Given the description of an element on the screen output the (x, y) to click on. 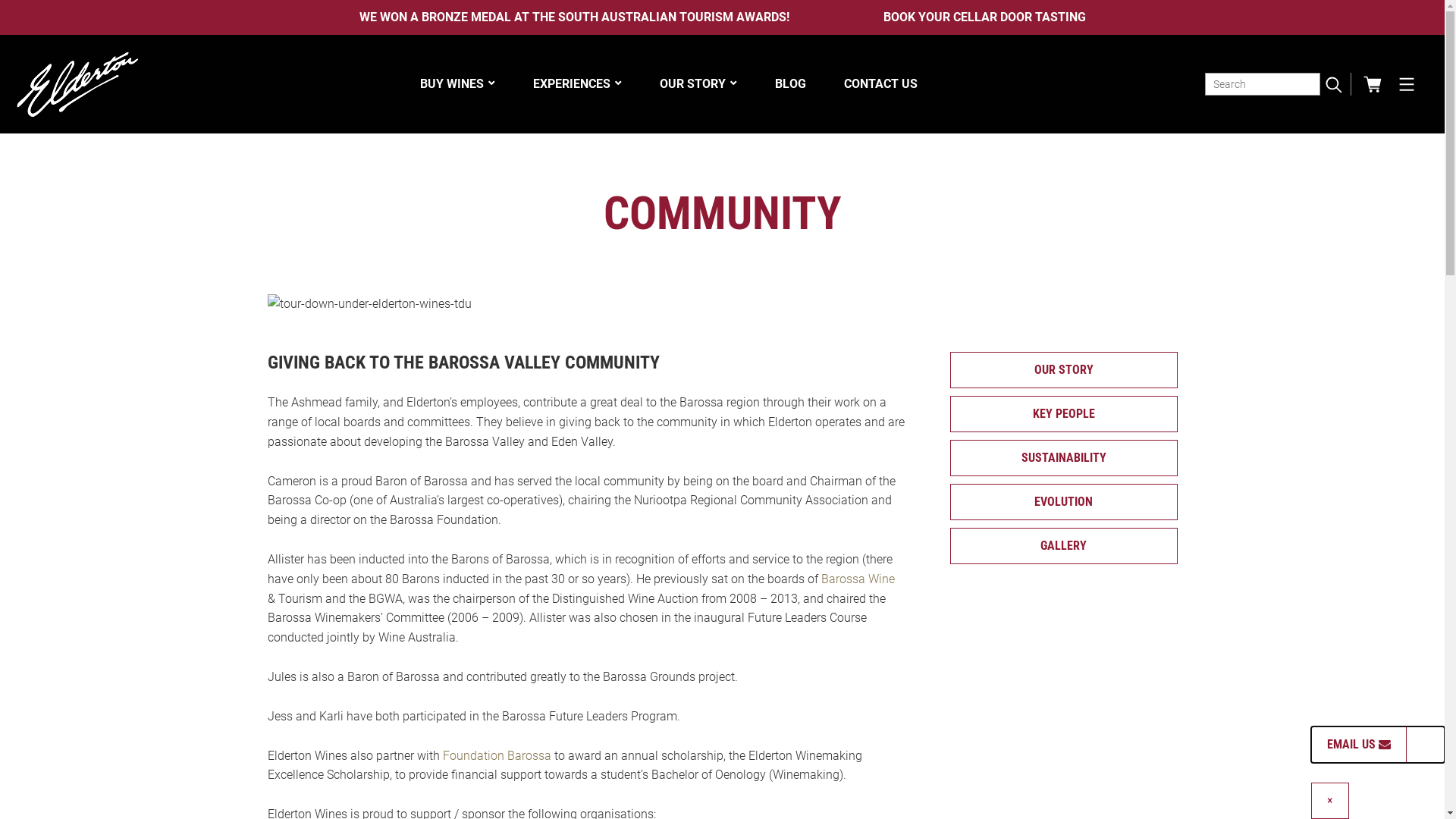
EMAIL US Element type: text (1358, 744)
CONTACT US Element type: text (879, 83)
OUR STORY Element type: text (1062, 369)
BLOG Element type: text (790, 83)
EMAIL US Element type: text (1358, 743)
KEY PEOPLE Element type: text (1062, 413)
OUR STORY Element type: text (698, 83)
EVOLUTION Element type: text (1062, 501)
SUSTAINABILITY Element type: text (1062, 457)
Foundation Barossa Element type: text (496, 755)
Log In Element type: text (638, 421)
GALLERY Element type: text (1062, 545)
BUY WINES Element type: text (457, 83)
Barossa Wine Element type: text (857, 578)
View your shopping cart Element type: hover (1374, 82)
EXPERIENCES Element type: text (576, 83)
